Given the description of an element on the screen output the (x, y) to click on. 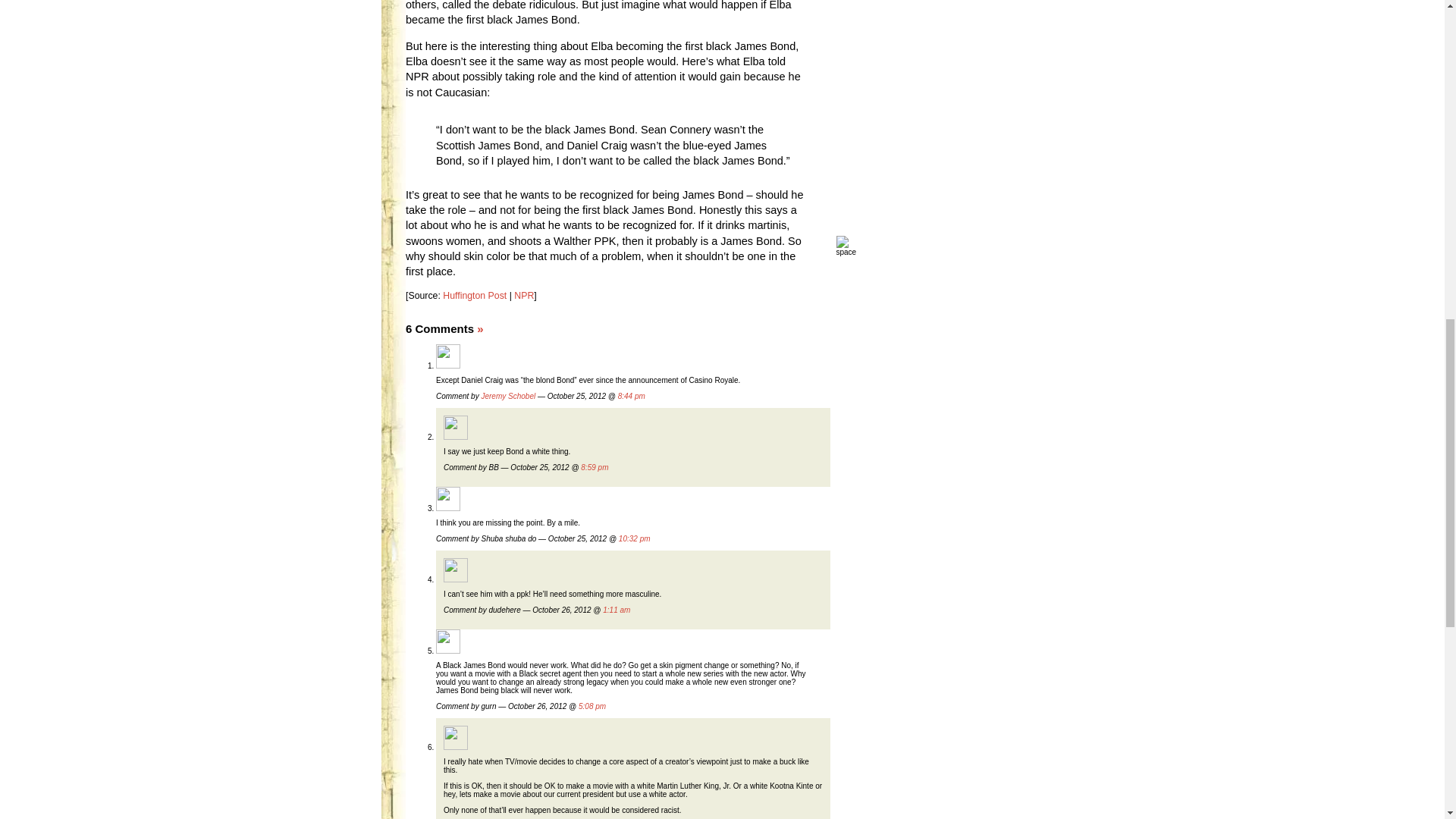
5:08 pm (591, 705)
NPR (523, 295)
Jeremy Schobel (507, 396)
10:32 pm (634, 538)
Huffington Post (474, 295)
1:11 am (616, 610)
8:59 pm (594, 467)
8:44 pm (631, 396)
